Given the description of an element on the screen output the (x, y) to click on. 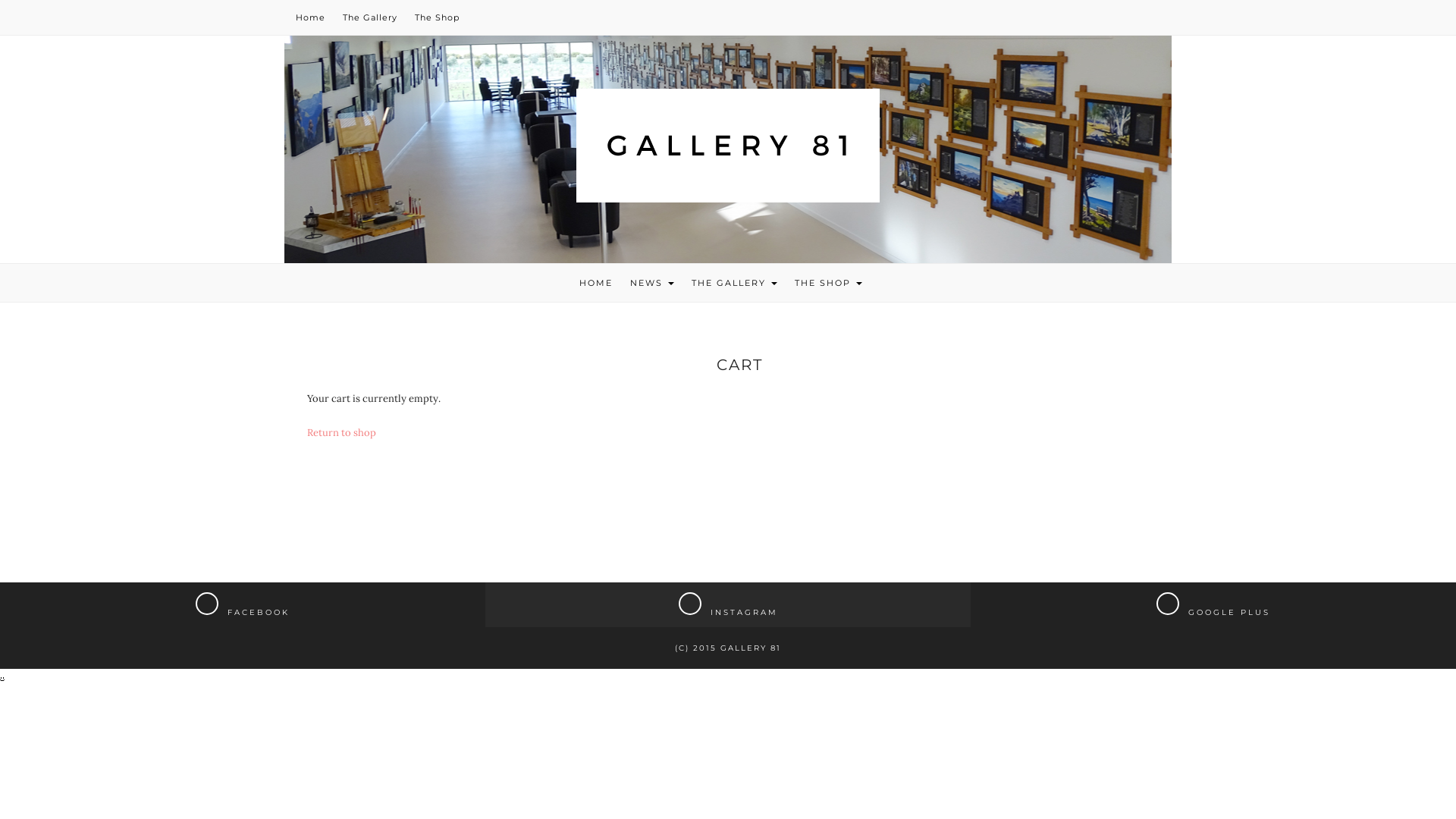
NEWS Element type: text (651, 282)
  INSTAGRAM Element type: text (727, 604)
Return to shop Element type: text (341, 432)
THE SHOP Element type: text (828, 282)
The Gallery Element type: text (369, 17)
THE GALLERY Element type: text (734, 282)
Home Element type: text (310, 17)
The Shop Element type: text (436, 17)
HOME Element type: text (595, 282)
  FACEBOOK Element type: text (242, 604)
